Given the description of an element on the screen output the (x, y) to click on. 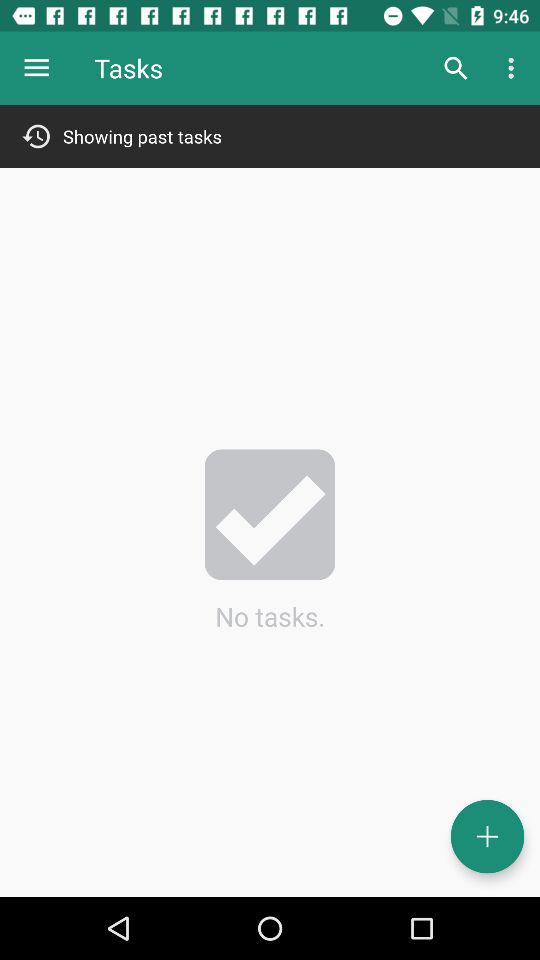
choose the icon above showing past tasks (36, 68)
